Given the description of an element on the screen output the (x, y) to click on. 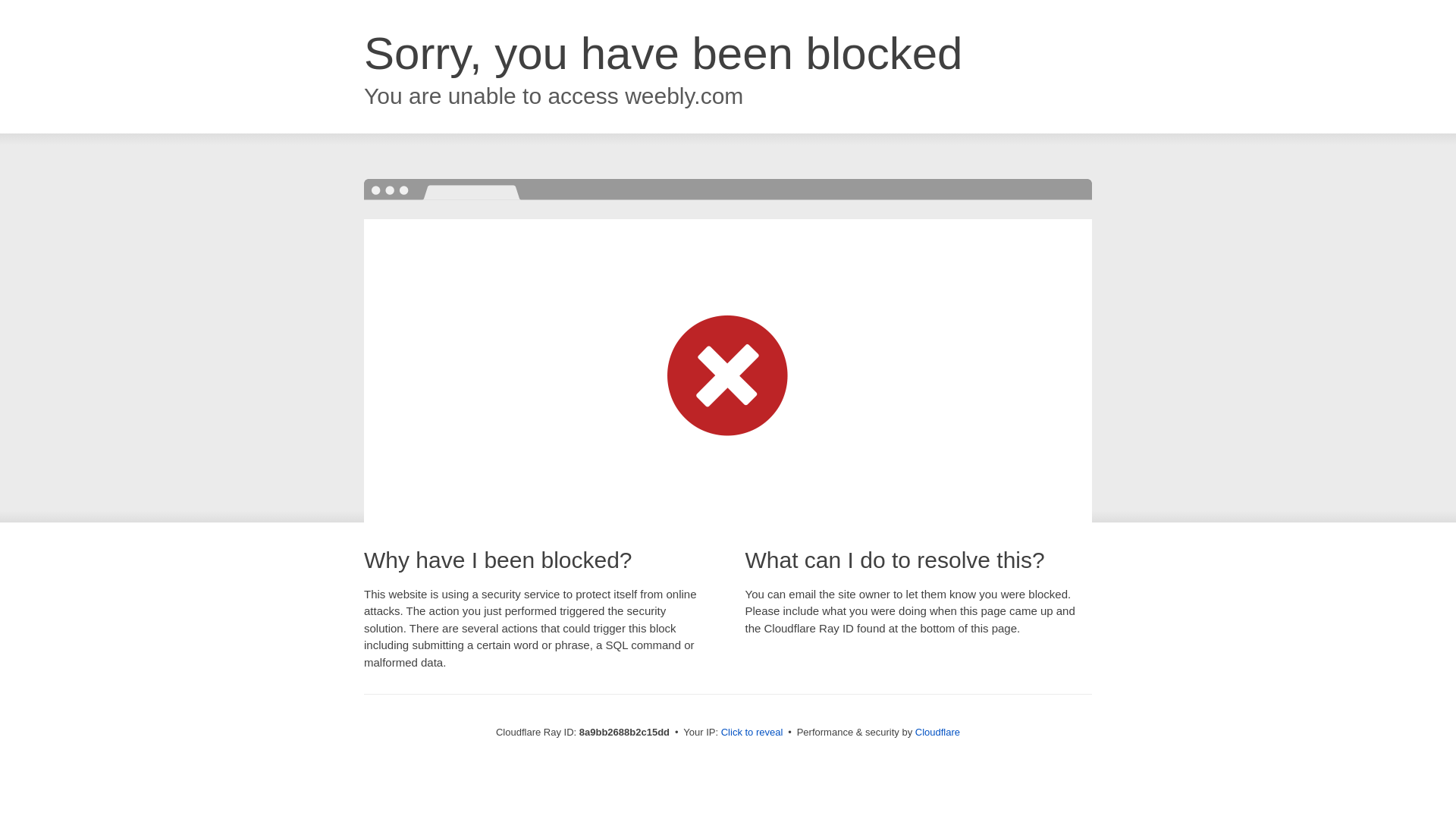
Cloudflare (937, 731)
Click to reveal (751, 732)
